Given the description of an element on the screen output the (x, y) to click on. 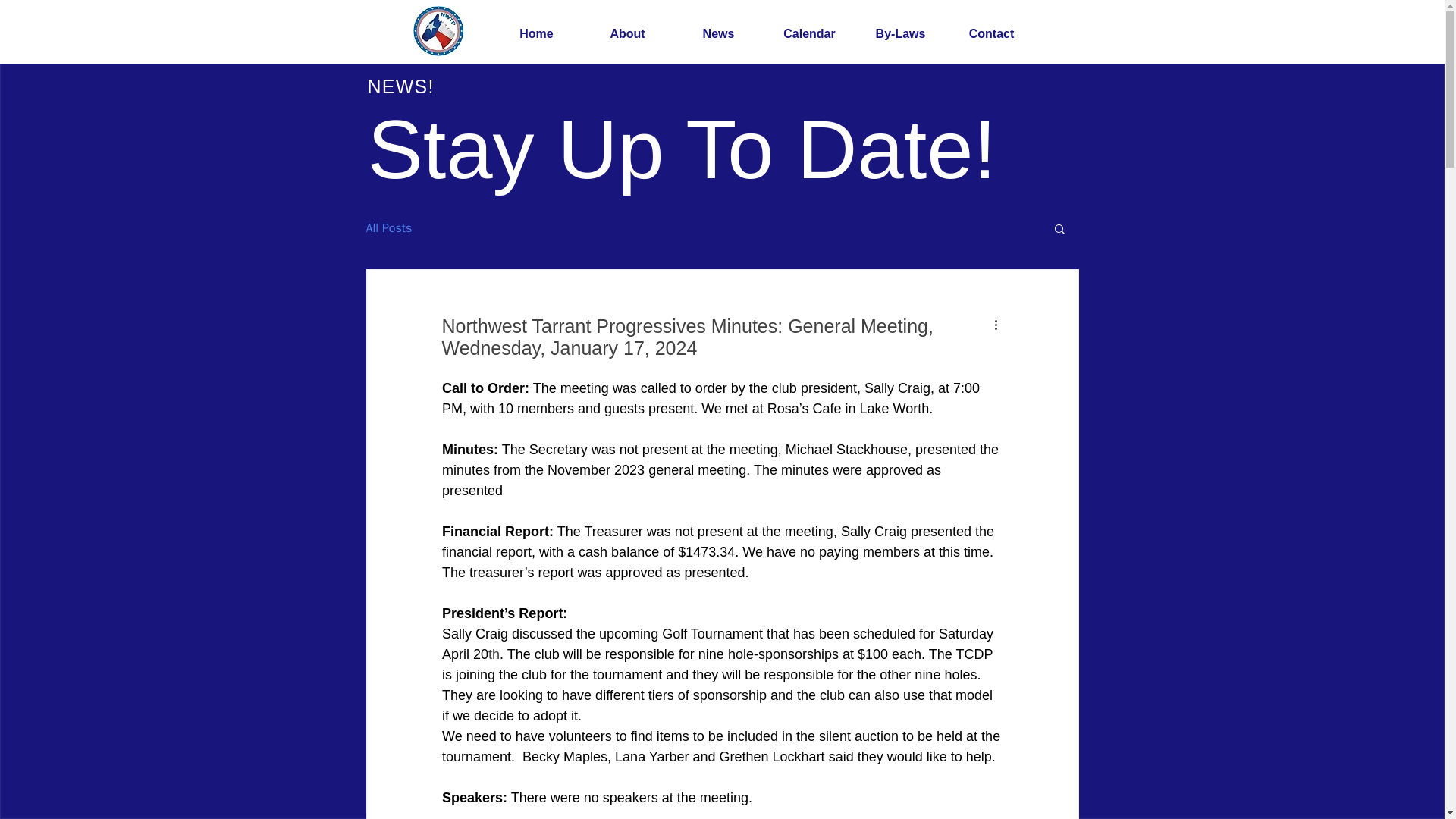
All Posts (388, 227)
News (718, 34)
Home (537, 34)
Contact (991, 34)
By-Laws (901, 34)
Calendar (810, 34)
About (627, 34)
